Given the description of an element on the screen output the (x, y) to click on. 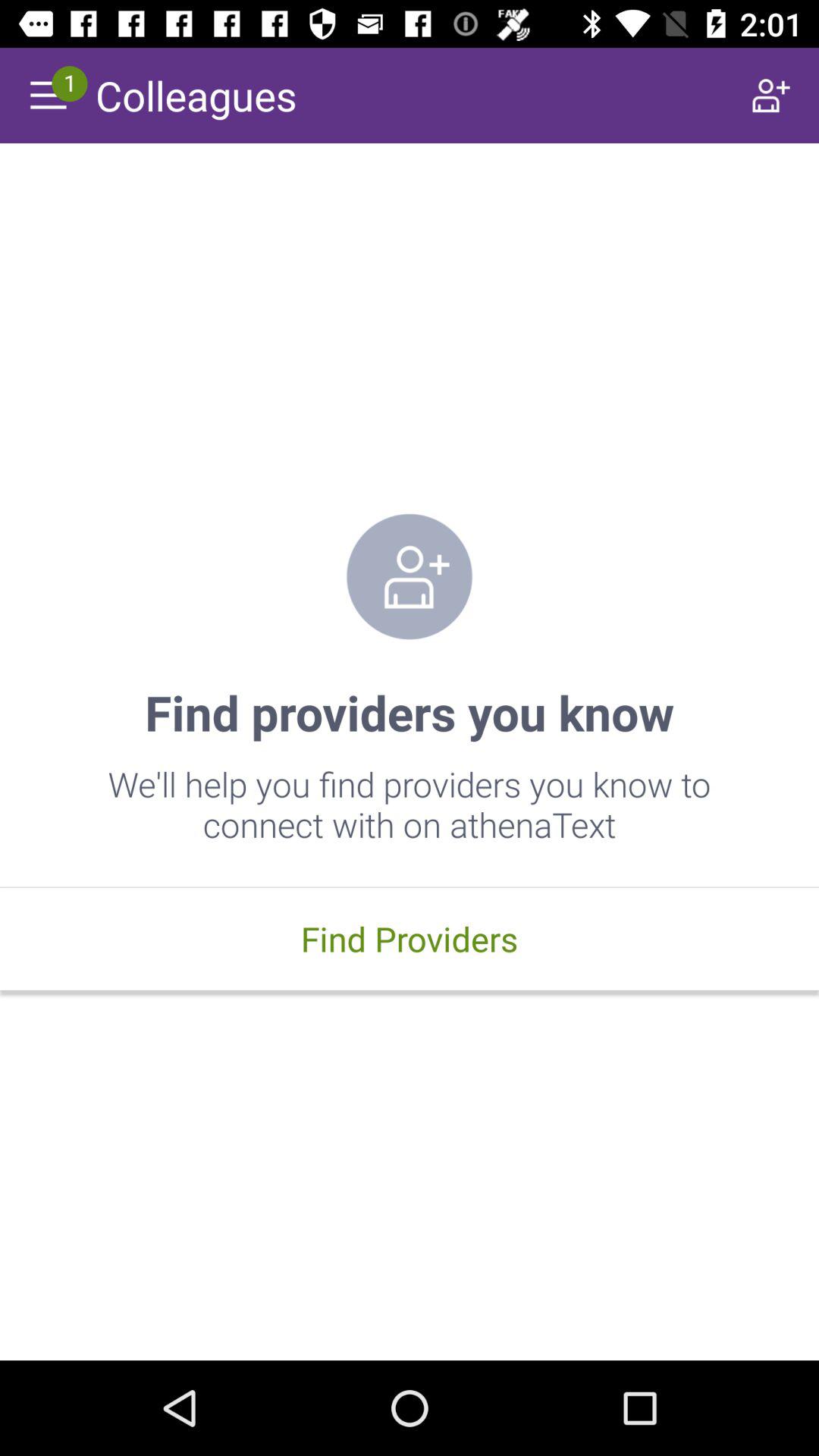
view menu options (47, 95)
